Given the description of an element on the screen output the (x, y) to click on. 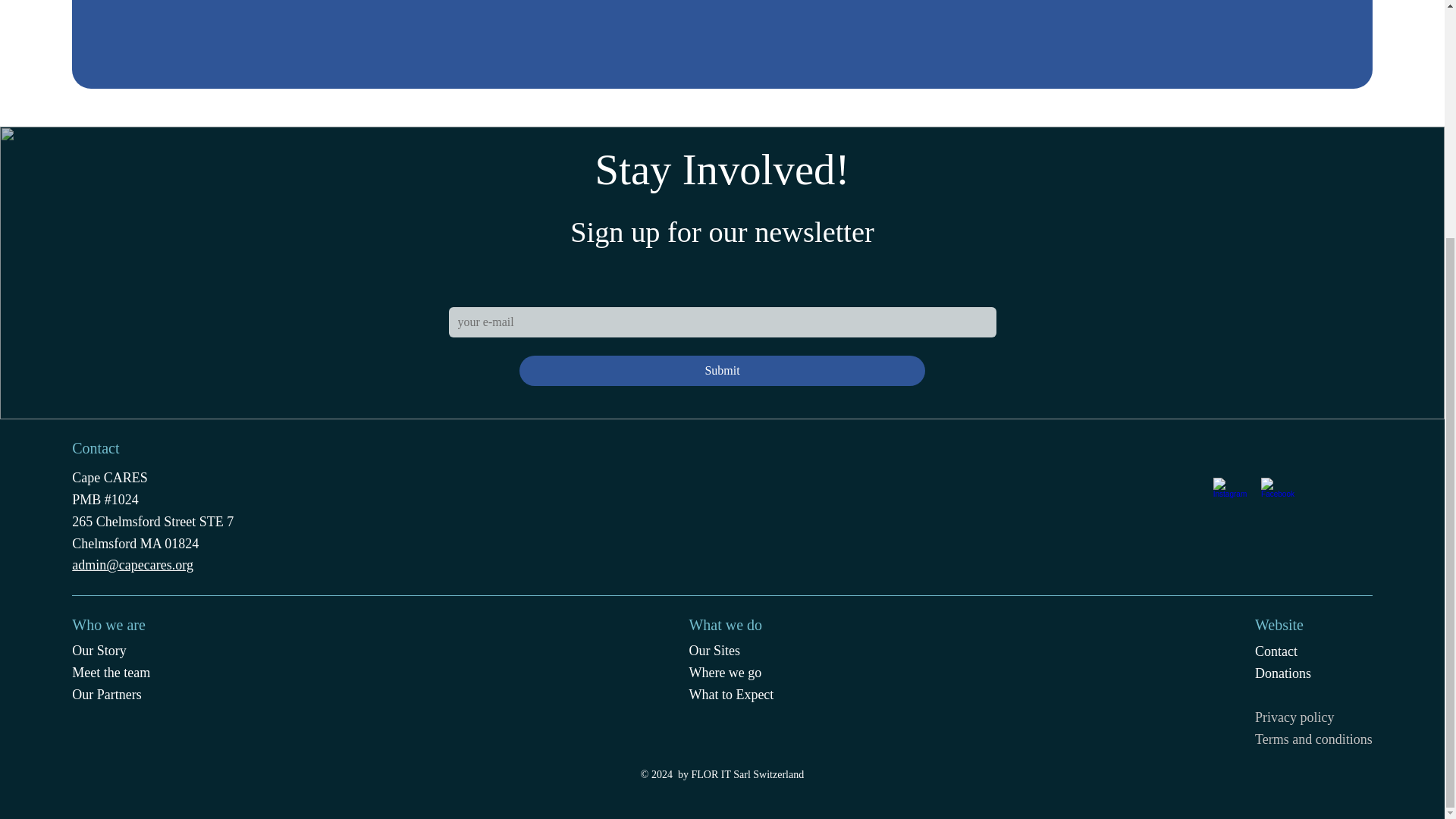
Where we go (724, 672)
Our Sites (713, 650)
Contact (1276, 651)
Donations (1283, 672)
Our Story (98, 650)
Submit (722, 370)
Our Partners (106, 694)
Meet the team (110, 672)
What to Expect (730, 694)
